Given the description of an element on the screen output the (x, y) to click on. 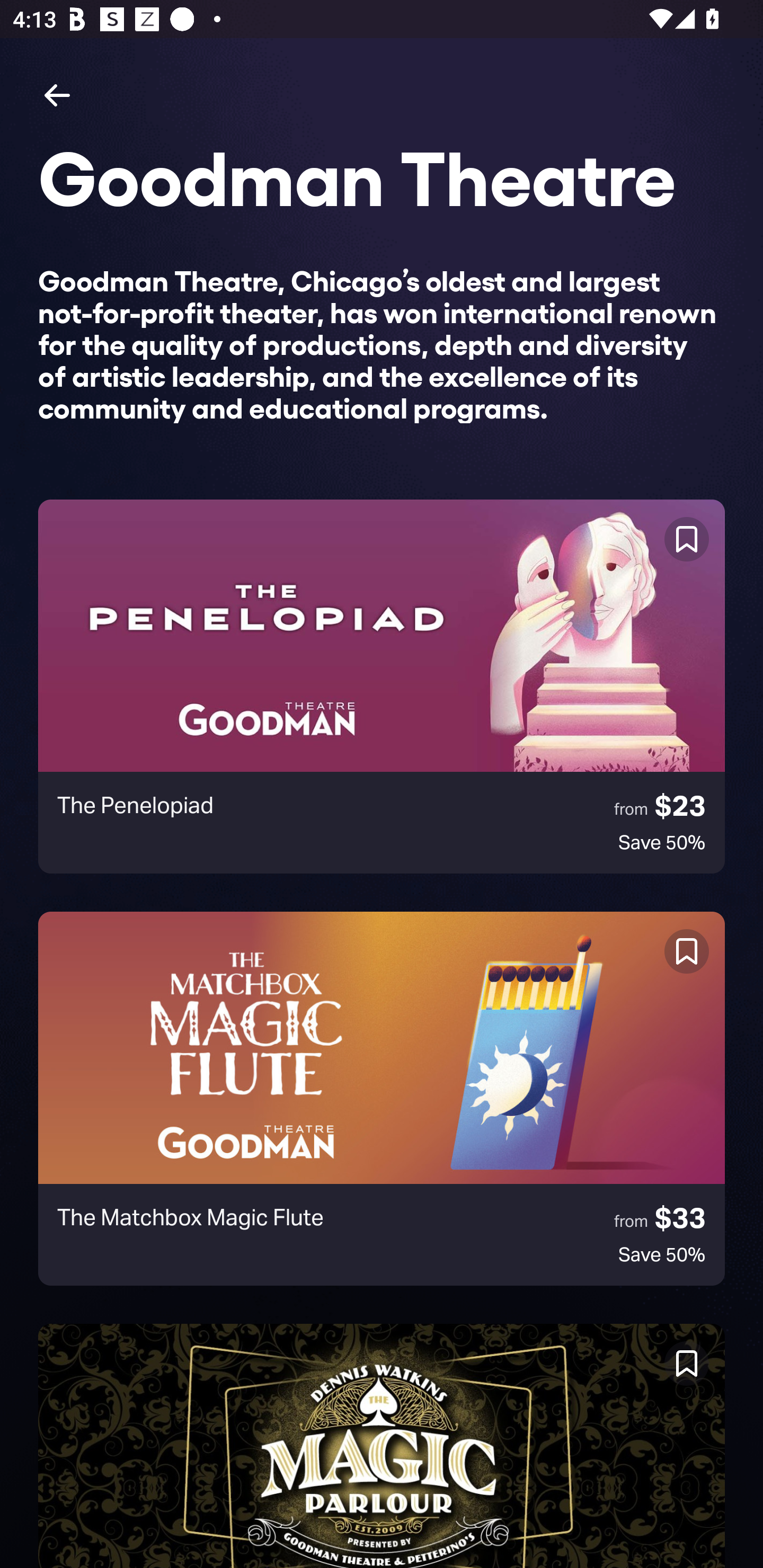
The Penelopiad from $23 Save 50% (381, 686)
The Matchbox Magic Flute from $33 Save 50% (381, 1098)
